Given the description of an element on the screen output the (x, y) to click on. 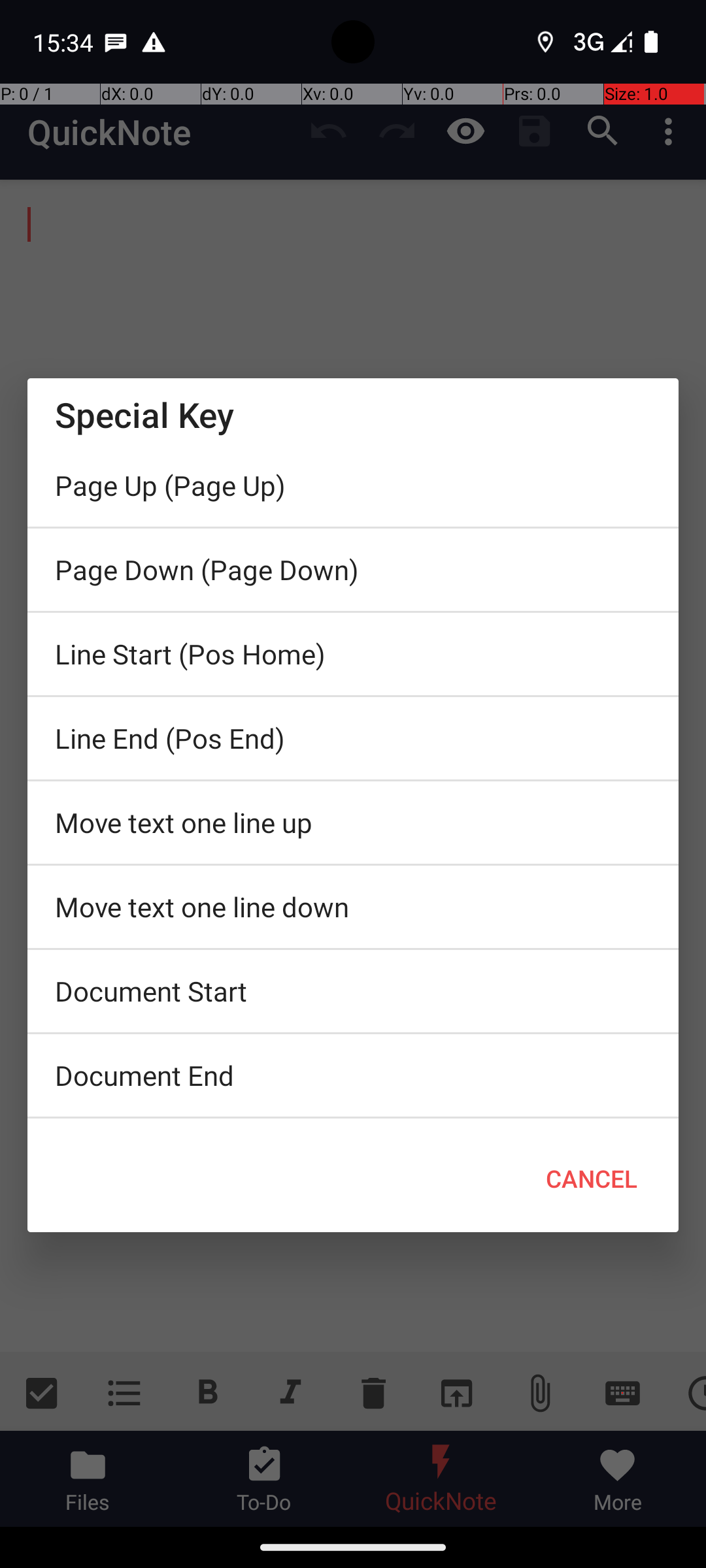
Page Up (Page Up) Element type: android.widget.TextView (352, 485)
Page Down (Page Down) Element type: android.widget.TextView (352, 569)
Line Start (Pos Home) Element type: android.widget.TextView (352, 653)
Line End (Pos End) Element type: android.widget.TextView (352, 738)
Move text one line up Element type: android.widget.TextView (352, 822)
Move text one line down Element type: android.widget.TextView (352, 906)
Document Start Element type: android.widget.TextView (352, 990)
Document End Element type: android.widget.TextView (352, 1075)
Select all (Ctrl+A) Element type: android.widget.TextView (352, 1121)
